Given the description of an element on the screen output the (x, y) to click on. 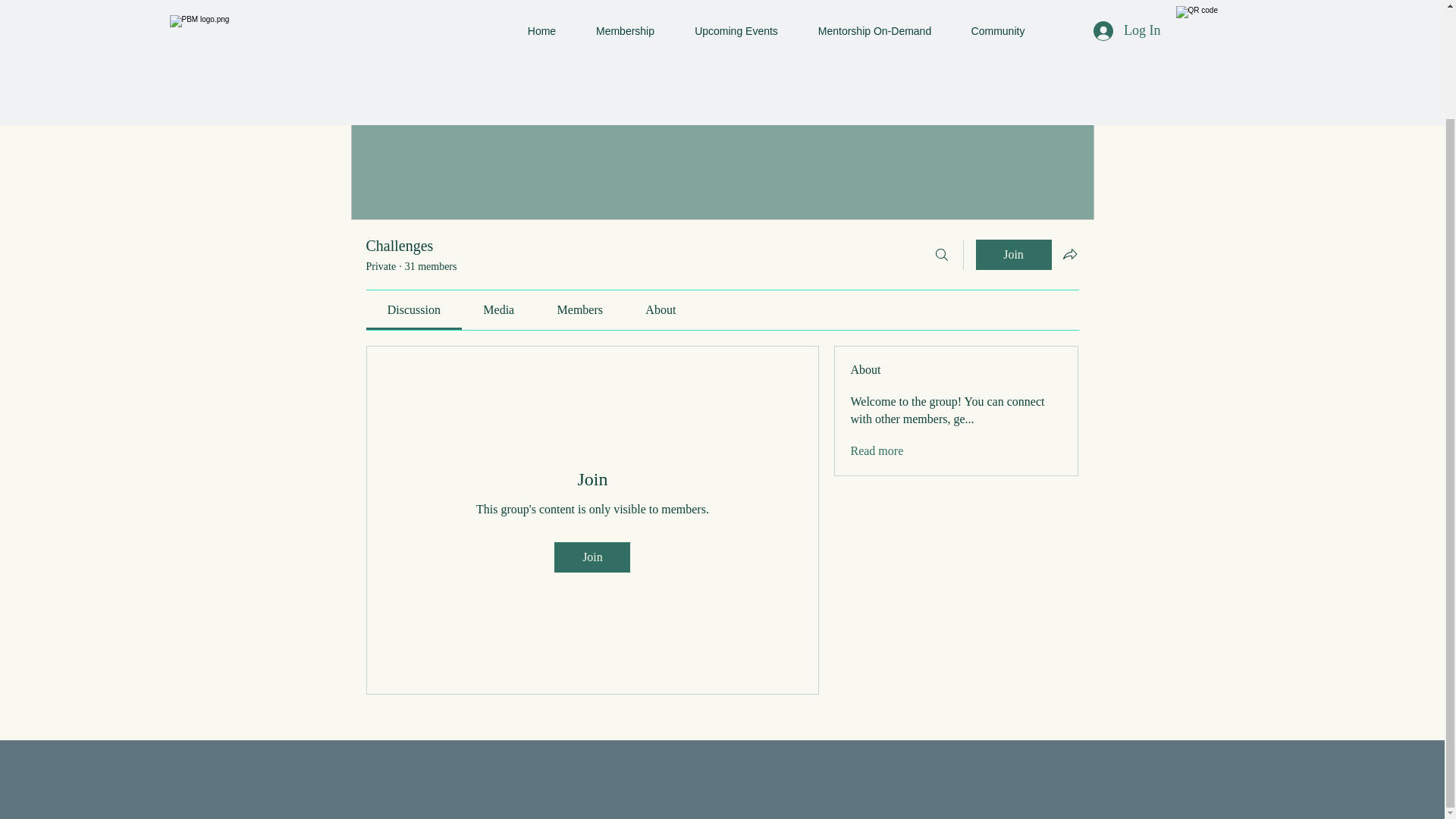
Join (1013, 254)
Read more (876, 451)
Join (592, 557)
Home (379, 17)
Groups (437, 17)
